Given the description of an element on the screen output the (x, y) to click on. 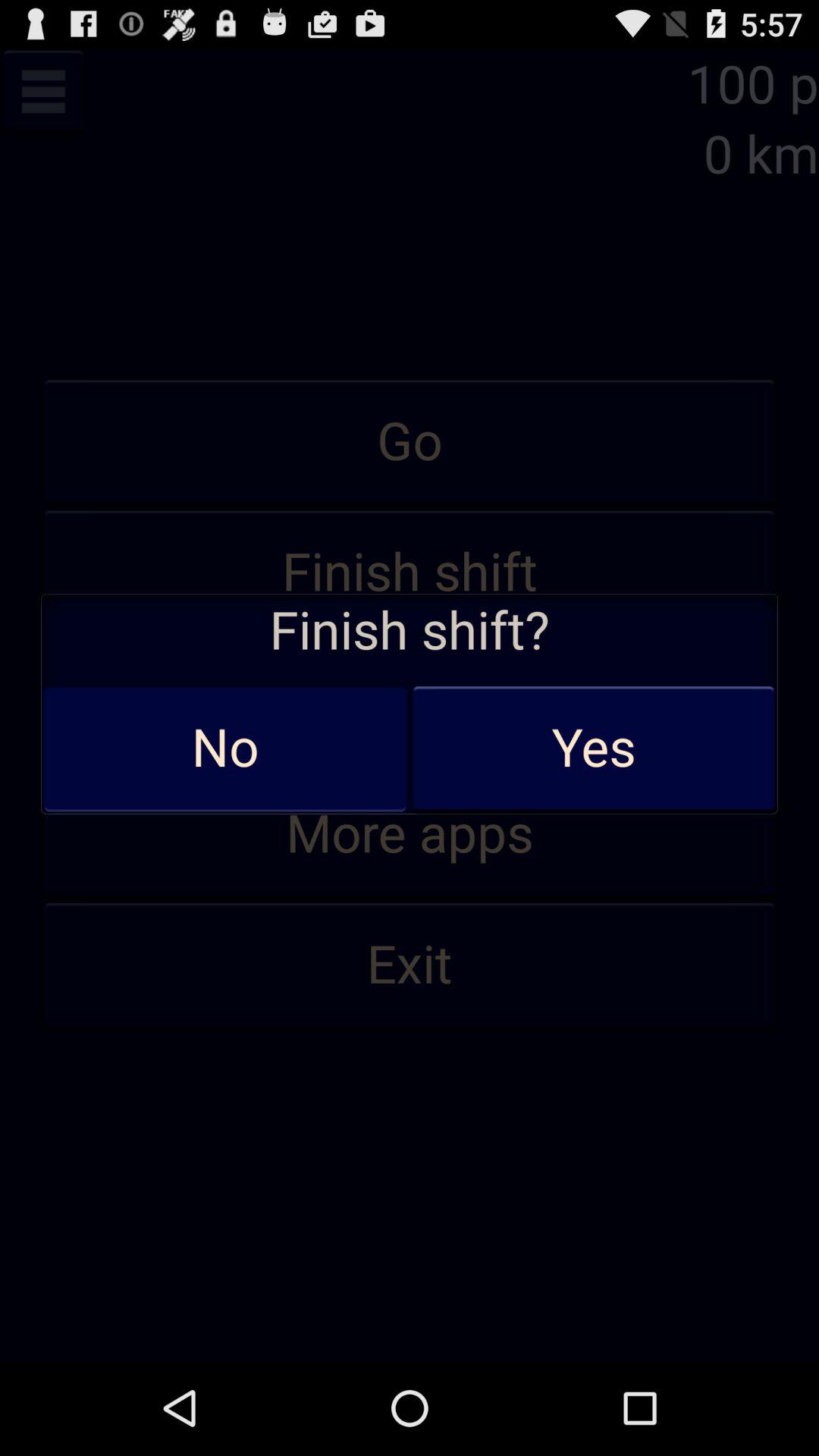
select icon at the top left corner (43, 90)
